Given the description of an element on the screen output the (x, y) to click on. 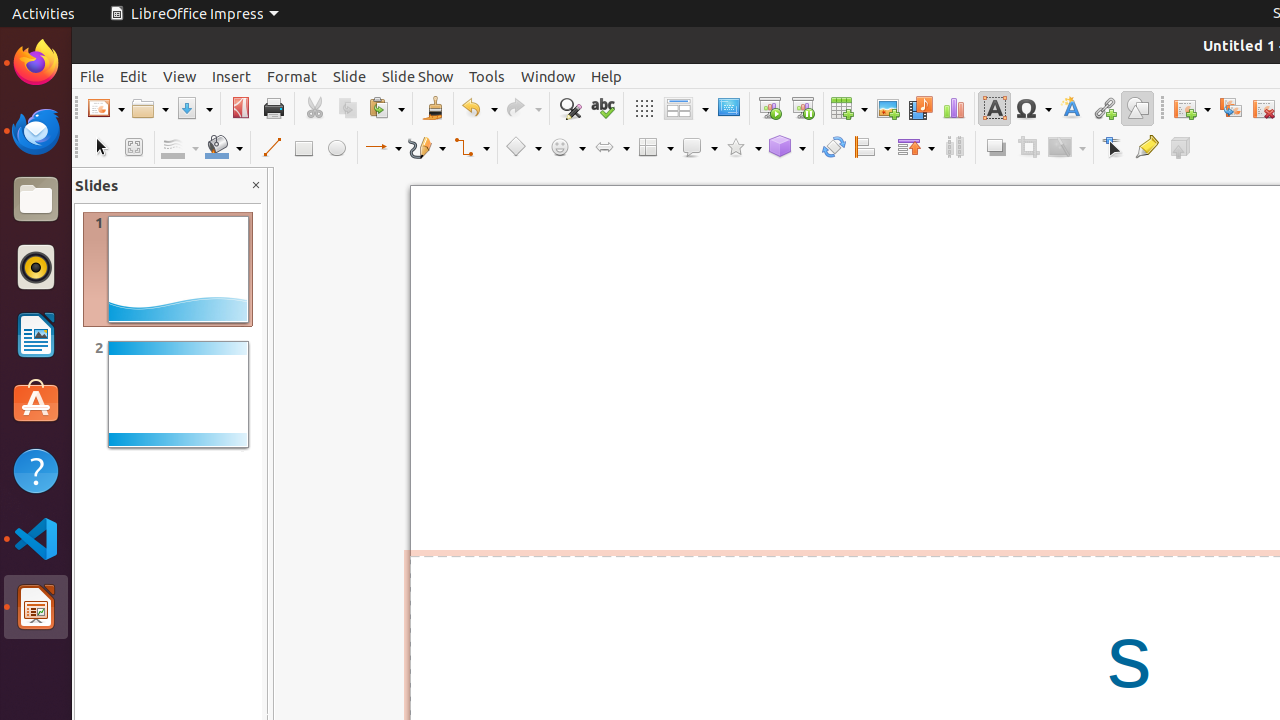
Glue Points Element type: push-button (1146, 147)
Toggle Extrusion Element type: push-button (1179, 147)
Hyperlink Element type: toggle-button (1104, 108)
Insert Element type: menu (231, 76)
Master Slide Element type: push-button (728, 108)
